Given the description of an element on the screen output the (x, y) to click on. 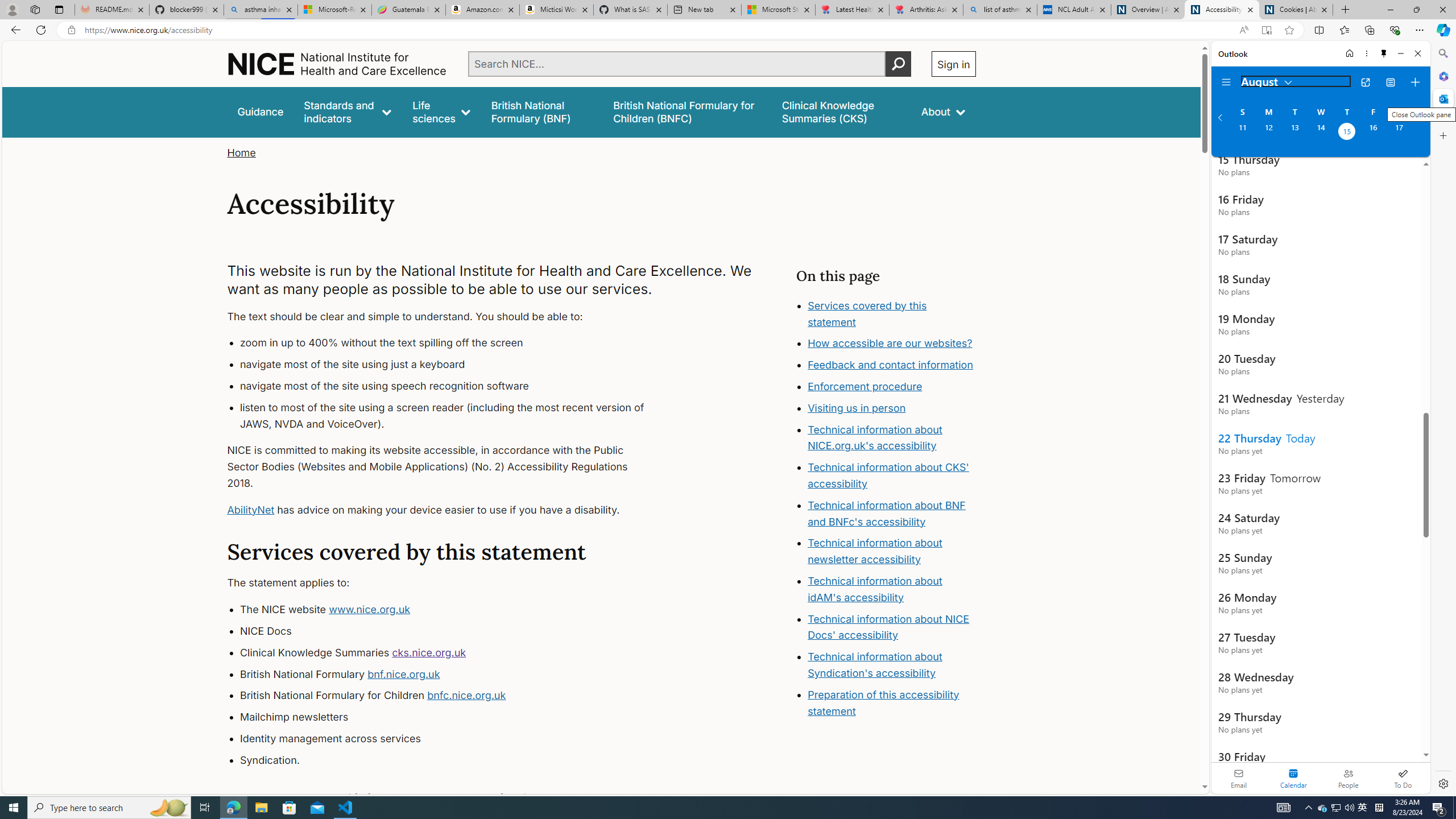
Technical information about NICE.org.uk's accessibility (875, 437)
list of asthma inhalers uk - Search (1000, 9)
Clinical Knowledge Summaries cks.nice.org.uk (452, 652)
Close Customize pane (1442, 135)
Technical information about CKS' accessibility (888, 475)
Life sciences (440, 111)
British National Formulary bnf.nice.org.uk (452, 674)
Thursday, August 15, 2024. Date selected.  (1346, 132)
Technical information about Syndication's accessibility (875, 664)
Selected calendar module. Date today is 22 (1293, 777)
